Given the description of an element on the screen output the (x, y) to click on. 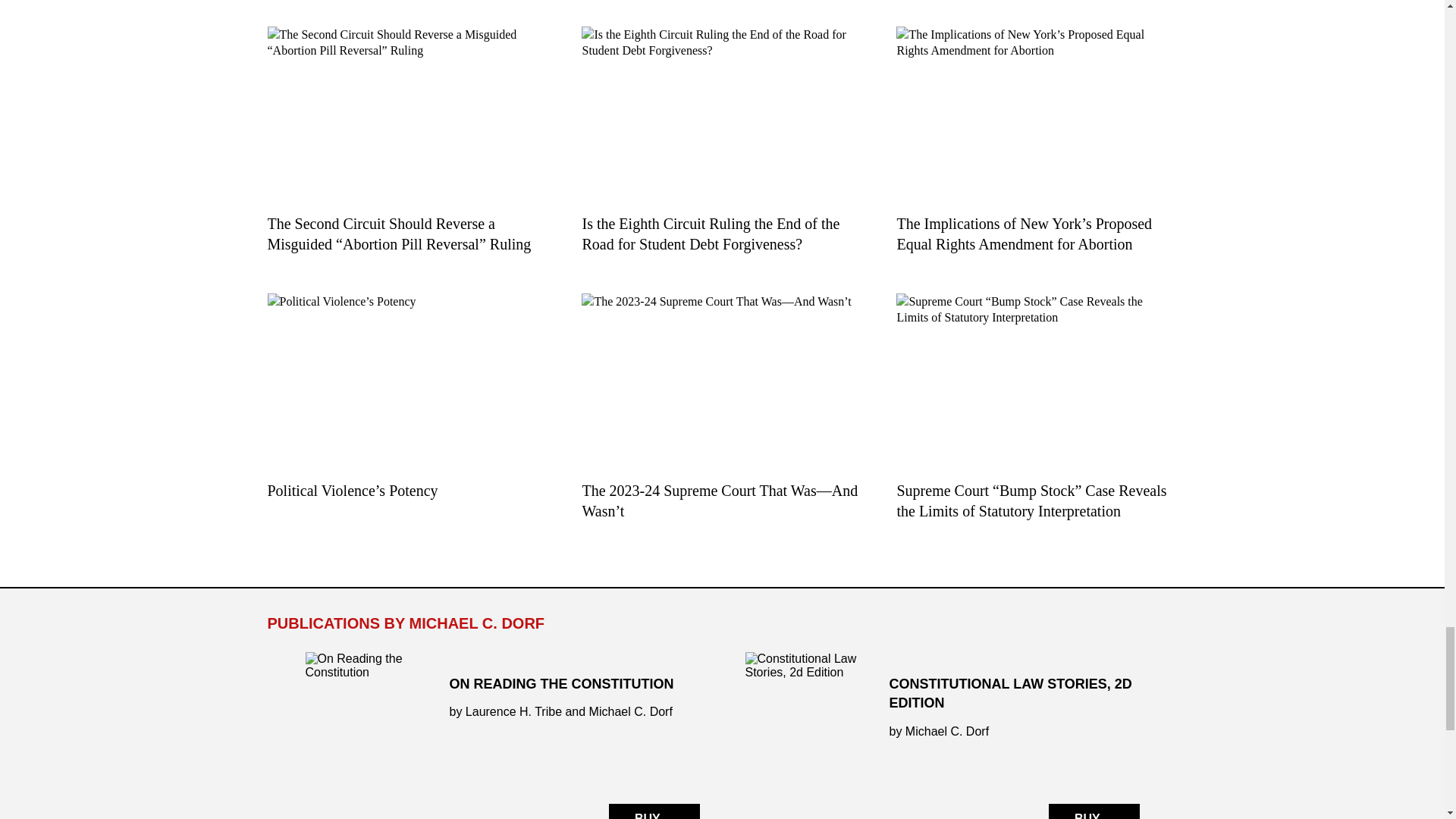
On Reading the Constitution (501, 735)
Constitutional Law Stories, 2d Edition (941, 735)
